Given the description of an element on the screen output the (x, y) to click on. 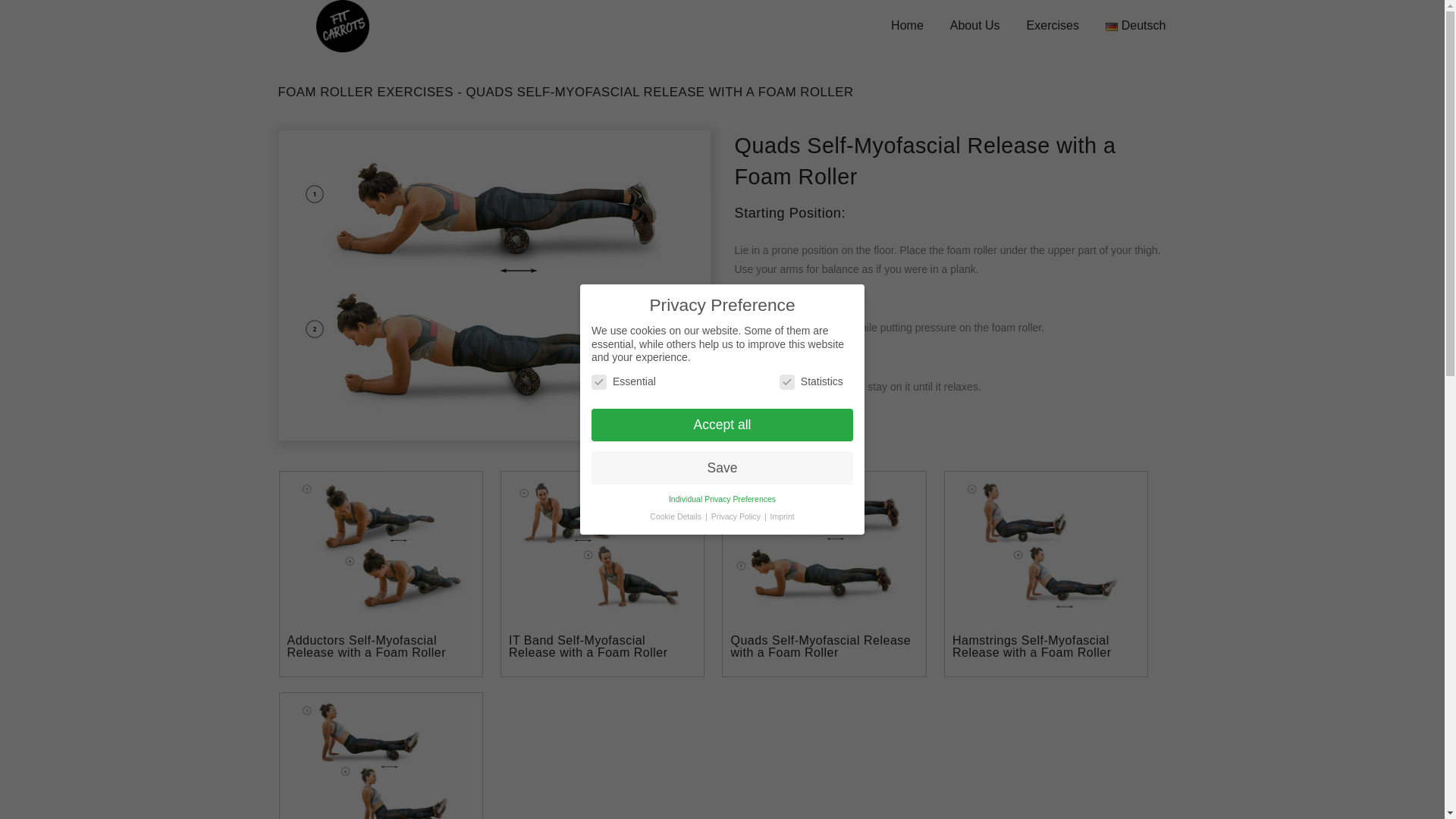
Deutsch (1135, 24)
Adductors Self-Myofascial Release with a Foam Roller (365, 646)
Quads Self-Myofascial Release with a Foam Roller (820, 646)
About Us (975, 24)
Exercises (1052, 24)
Hamstrings Self-Myofascial Release with a Foam Roller (1032, 646)
Home (907, 24)
IT Band Self-Myofascial Release with a Foam Roller (588, 646)
